Given the description of an element on the screen output the (x, y) to click on. 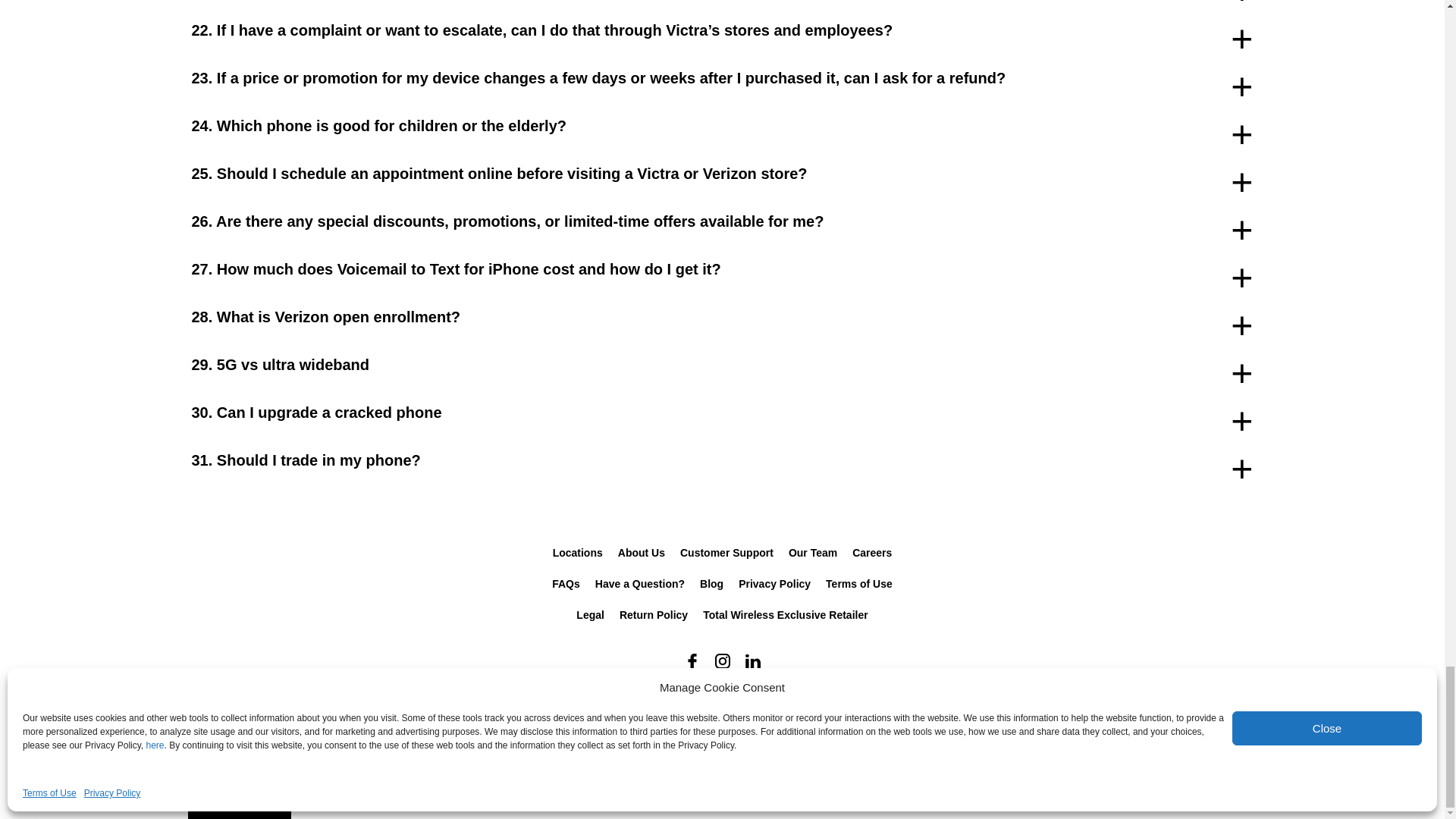
Instagram (721, 661)
Linkedin (751, 661)
Facebook (691, 661)
